Given the description of an element on the screen output the (x, y) to click on. 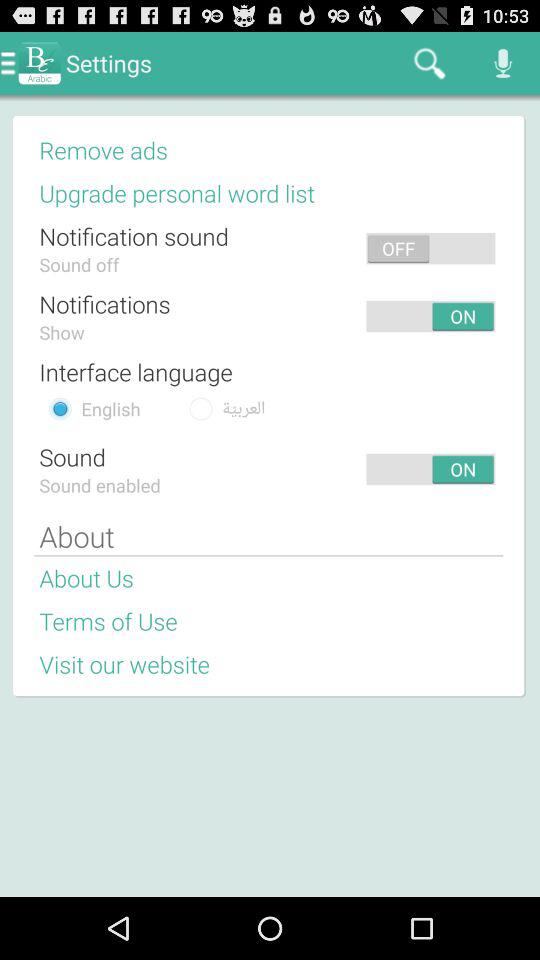
tap item to the right of the notifications app (266, 315)
